Given the description of an element on the screen output the (x, y) to click on. 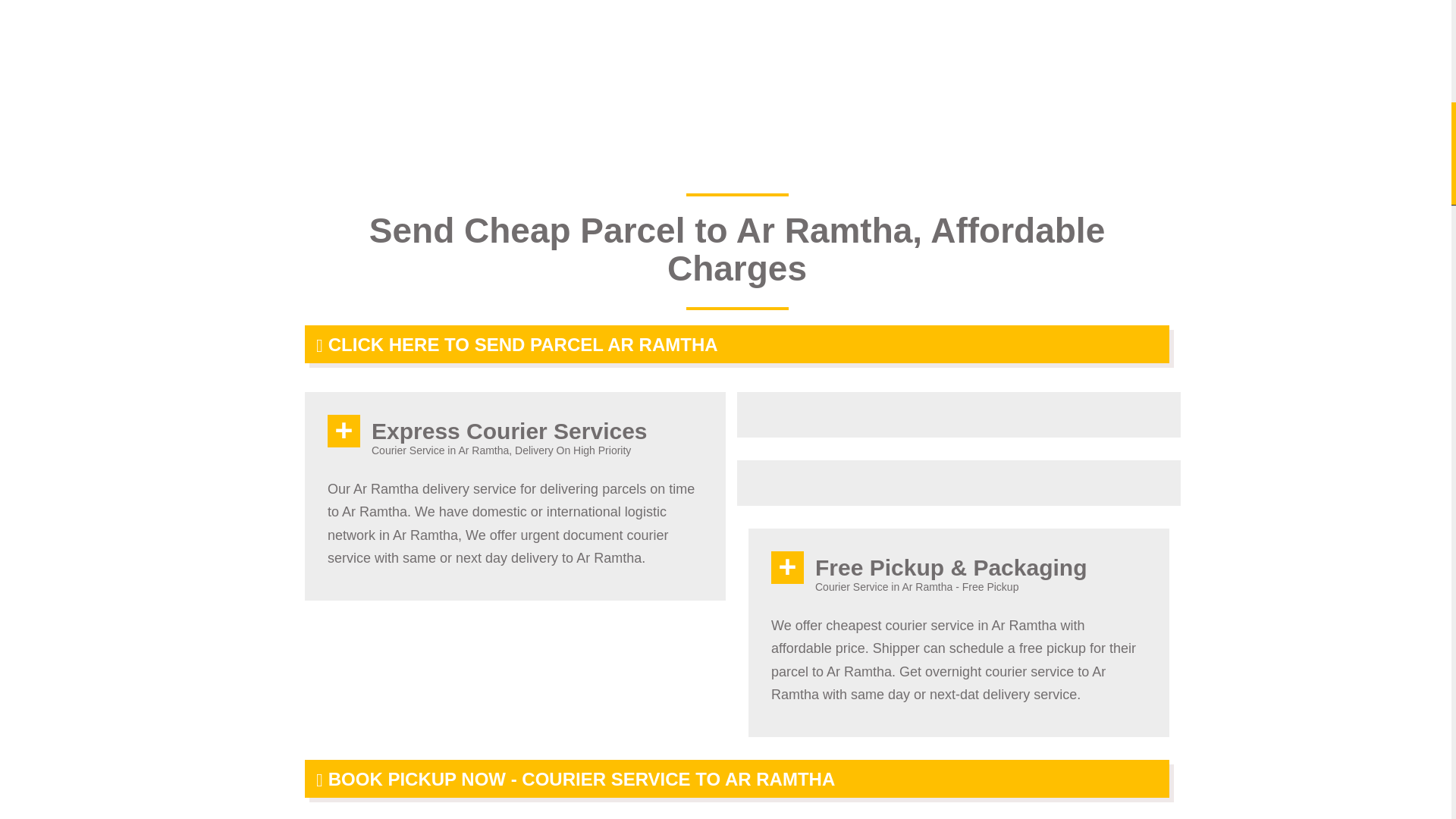
BOOK PICKUP NOW - COURIER SERVICE TO AR RAMTHA (736, 778)
CLICK HERE TO SEND PARCEL AR RAMTHA (736, 344)
CLICK HERE TO SEND PARCEL AR RAMTHA (736, 344)
BOOK PICKUP NOW - COURIER SERVICE TO AR RAMTHA (736, 778)
